Given the description of an element on the screen output the (x, y) to click on. 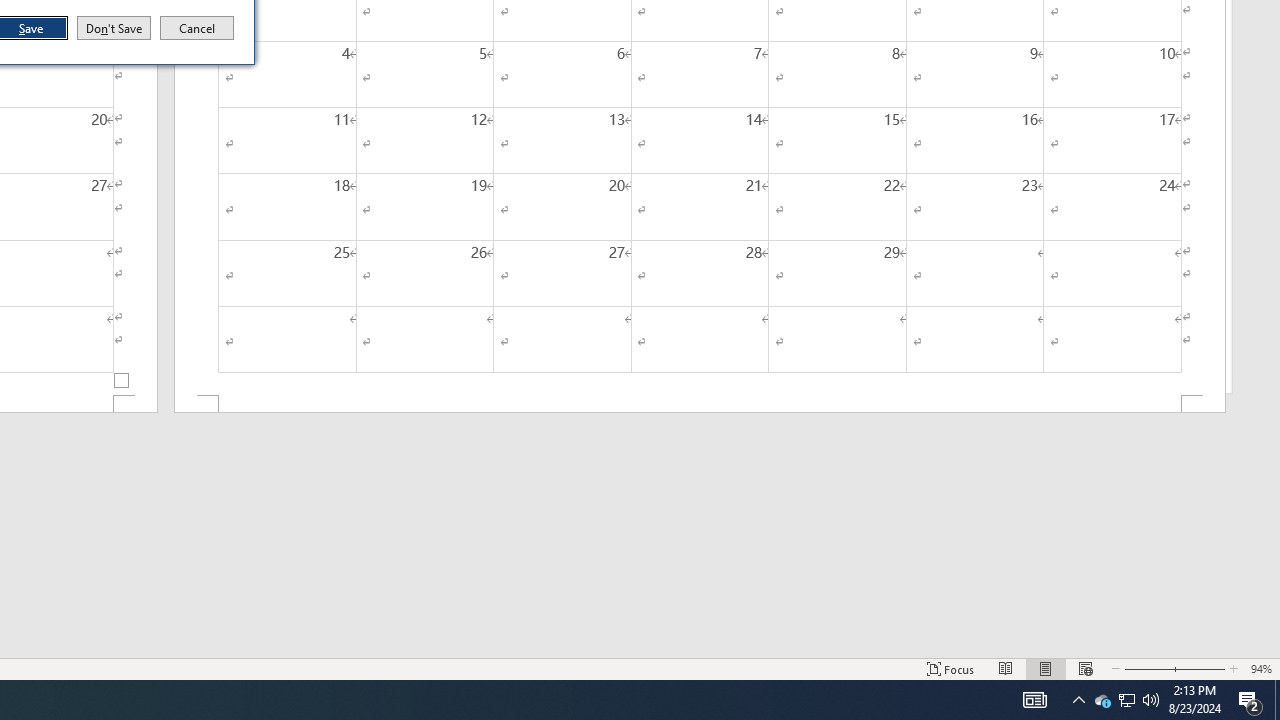
Action Center, 2 new notifications (1250, 699)
Don't Save (113, 27)
Show desktop (1126, 699)
